Given the description of an element on the screen output the (x, y) to click on. 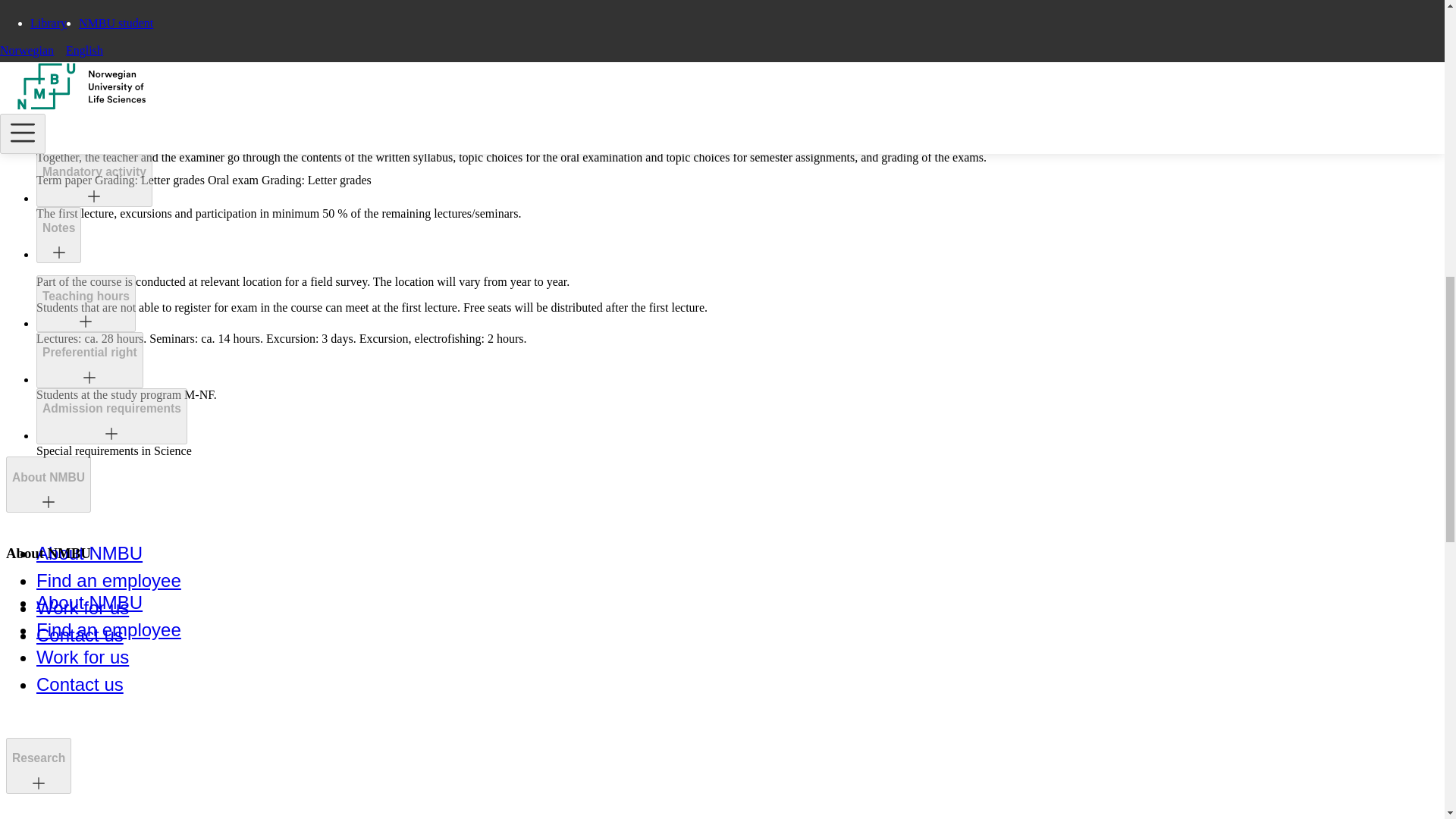
Research (38, 757)
Research (38, 765)
Admission requirements (111, 416)
About NMBU (89, 552)
Find an employee (108, 580)
Mandatory activity (94, 172)
Work for us (82, 657)
Contact us (79, 634)
Assessment method (100, 47)
Examiner scheme (92, 115)
Recommended prerequisites (123, 12)
Assessment method (100, 54)
Preferential right (89, 360)
Work for us (82, 607)
Mandatory activity (94, 178)
